Given the description of an element on the screen output the (x, y) to click on. 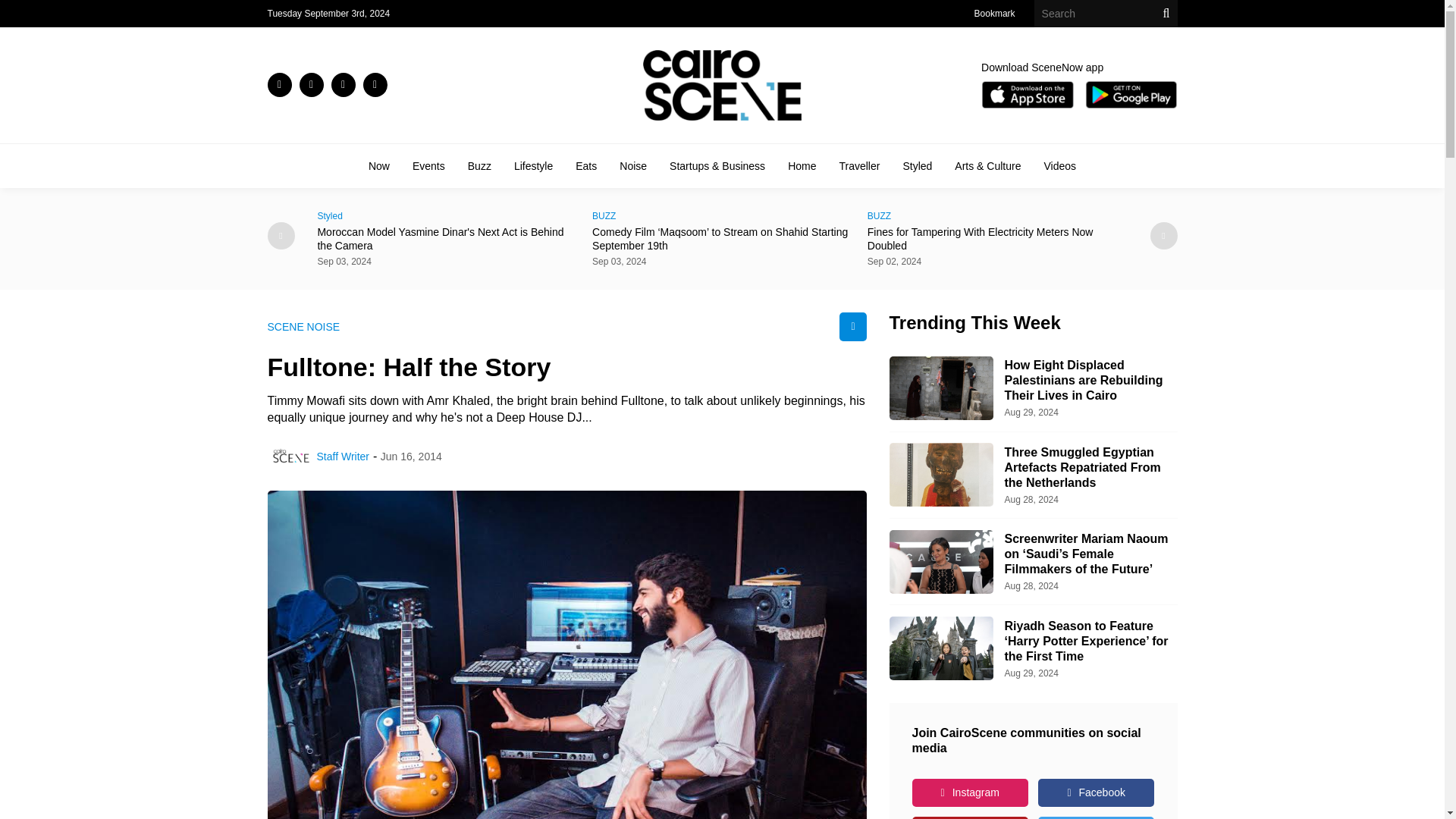
Eats (585, 165)
BUZZ (721, 215)
Events (428, 165)
Buzz (479, 165)
Moroccan Model Yasmine Dinar's Next Act is Behind the Camera (446, 238)
Home (801, 165)
Styled (446, 215)
Lifestyle (533, 165)
Now (379, 165)
Noise (633, 165)
